Given the description of an element on the screen output the (x, y) to click on. 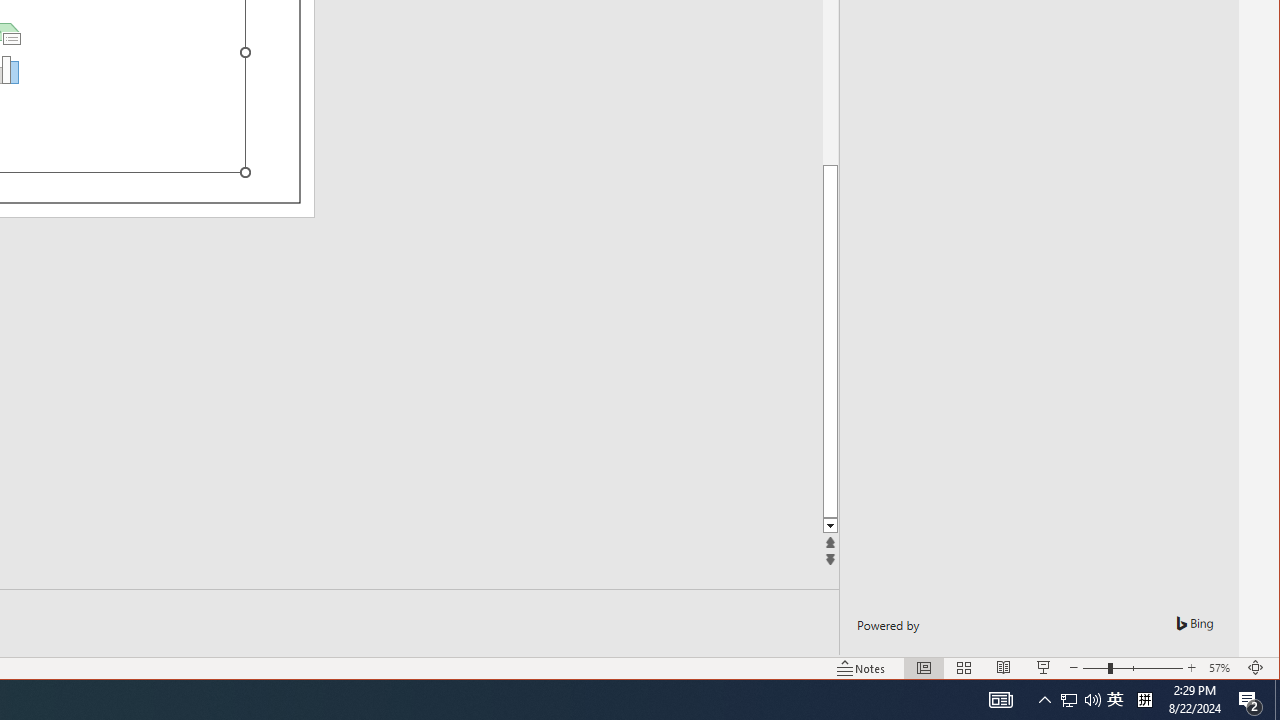
Zoom 57% (1222, 668)
